Given the description of an element on the screen output the (x, y) to click on. 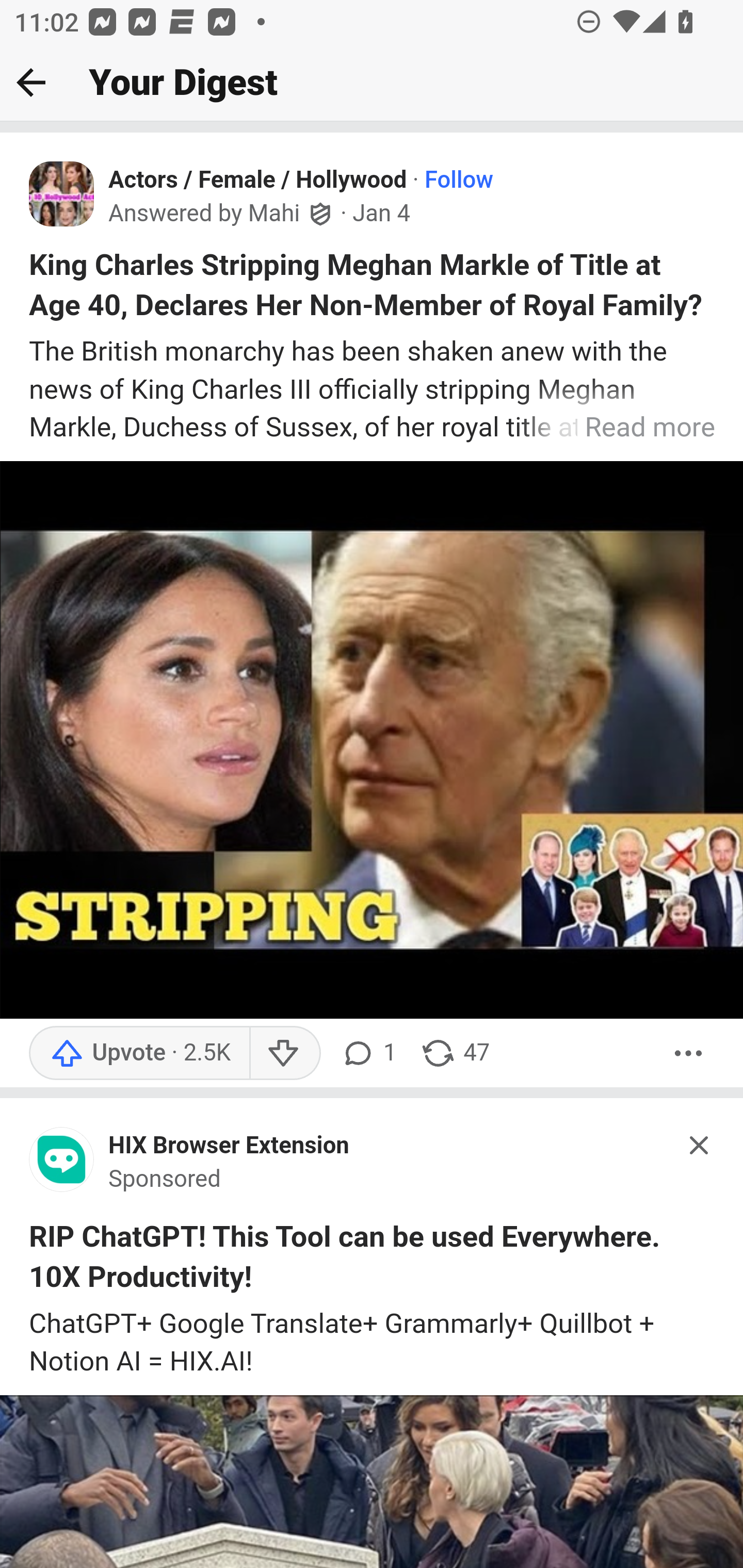
Back (30, 82)
Icon for Actors / Female / Hollywood (61, 194)
Actors / Female / Hollywood (257, 180)
Follow (458, 180)
Upvote (138, 1052)
Downvote (283, 1052)
1 comment (367, 1052)
47 shares (454, 1052)
More (688, 1052)
Hide (699, 1143)
main-qimg-a26aff9df7f072be8b0645a7a8a9dc4b (61, 1163)
HIX Browser Extension (229, 1145)
Sponsored (165, 1179)
